Given the description of an element on the screen output the (x, y) to click on. 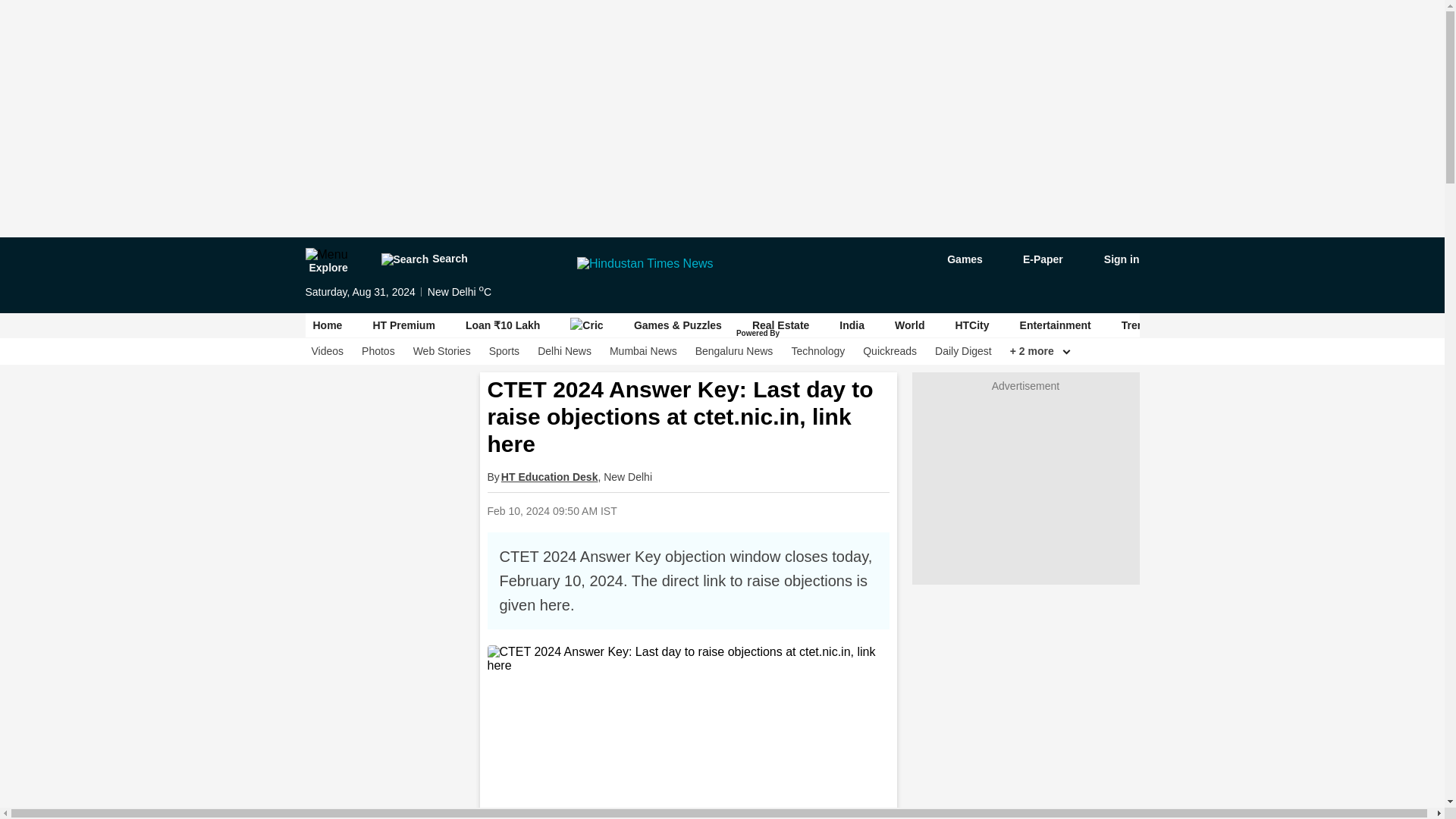
Trending (1143, 325)
Real Estate (780, 324)
Search (423, 258)
Home (327, 325)
Daily Digest (962, 350)
World (909, 325)
Games (954, 258)
Technology (817, 350)
game (954, 258)
Powered By (758, 333)
